Given the description of an element on the screen output the (x, y) to click on. 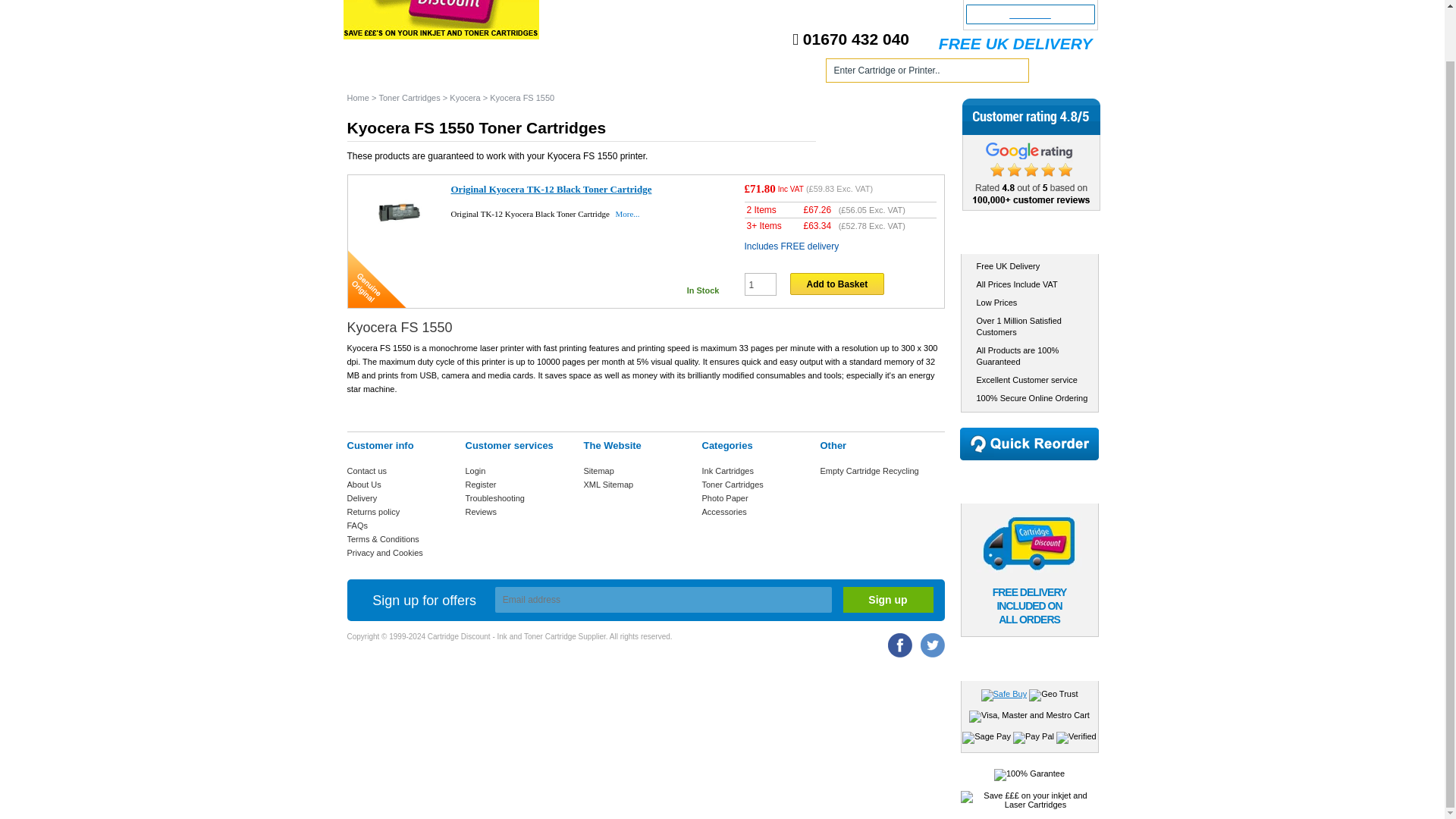
Ink Cartridges (463, 73)
Sign up (888, 599)
Checkout (1030, 14)
Home (376, 73)
Ink Cartridges (463, 73)
Toner Cartridges (576, 73)
